Given the description of an element on the screen output the (x, y) to click on. 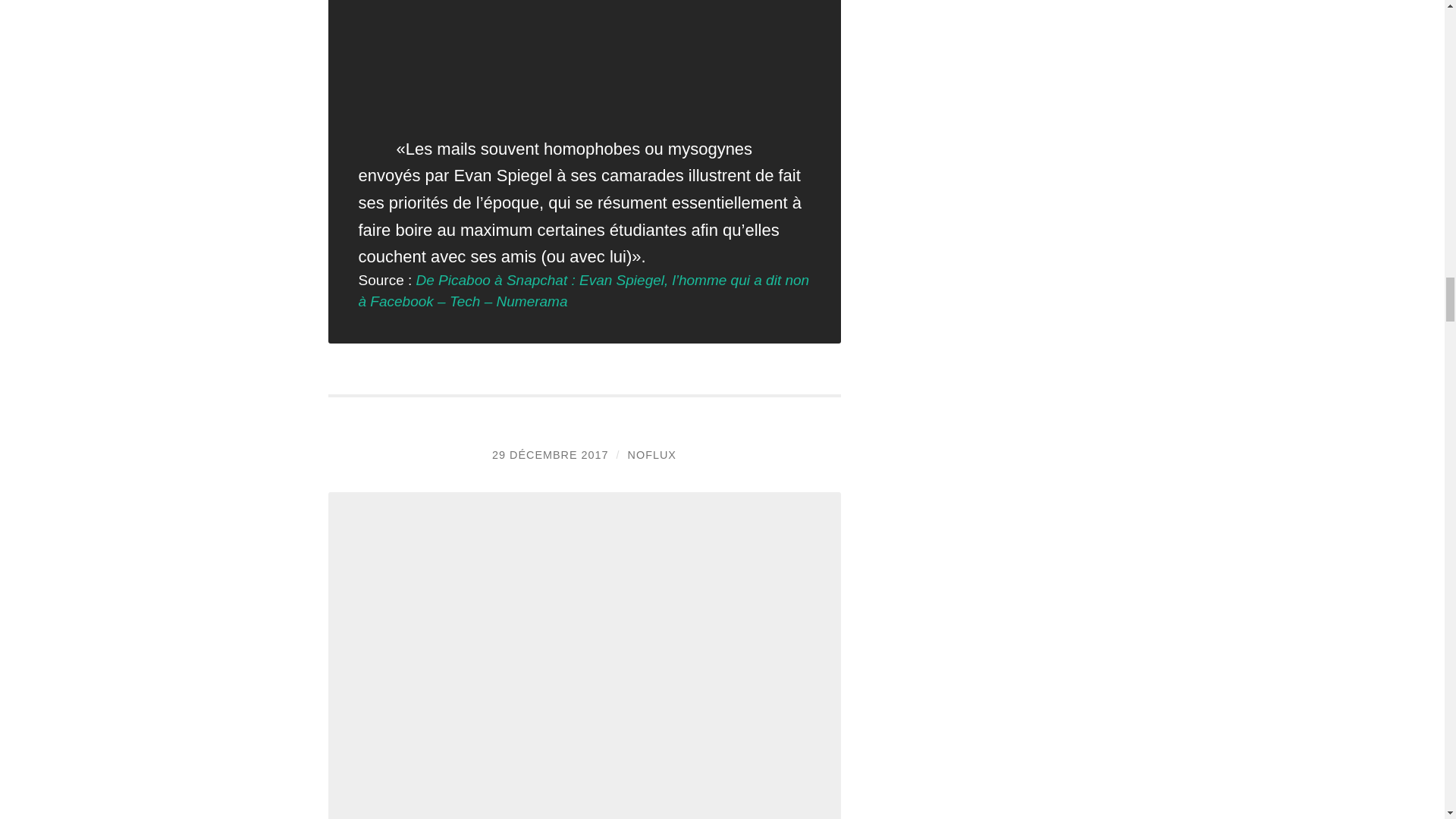
Articles par noflux (652, 454)
NOFLUX (652, 454)
